Given the description of an element on the screen output the (x, y) to click on. 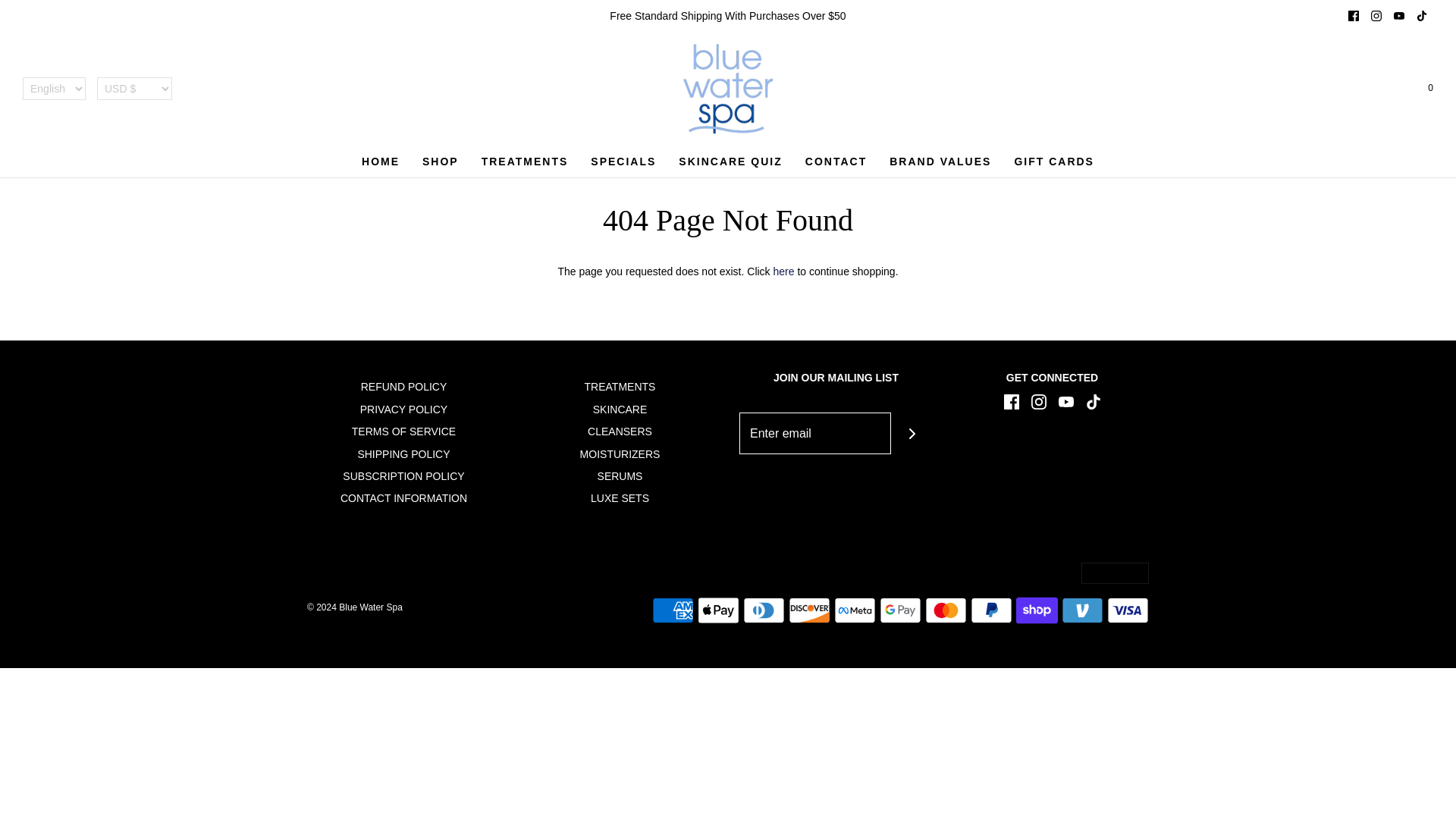
Discover (809, 610)
PayPal (991, 610)
Facebook icon (1353, 15)
Apple Pay (718, 610)
Diners Club (763, 610)
American Express (673, 610)
Facebook icon (1353, 15)
YouTube icon (1399, 15)
YouTube icon (1066, 401)
Instagram icon (1376, 15)
Venmo (1082, 610)
Meta Pay (855, 610)
Instagram icon (1376, 15)
Shop Pay (1037, 610)
